Given the description of an element on the screen output the (x, y) to click on. 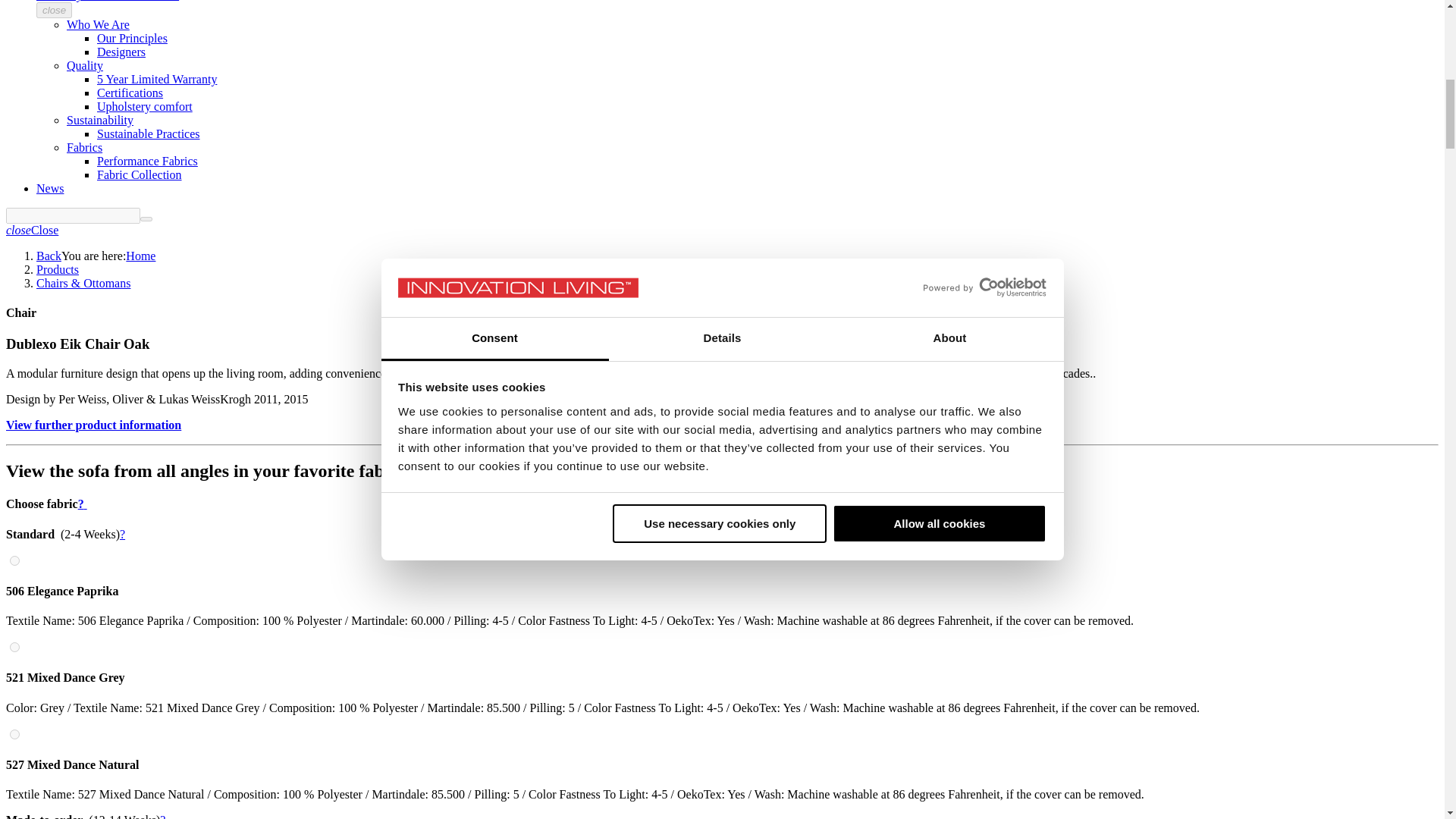
variant-PROD1130 (15, 560)
View further product information (92, 424)
variant-PROD1138 (15, 646)
variant-PROD1140 (15, 734)
